Given the description of an element on the screen output the (x, y) to click on. 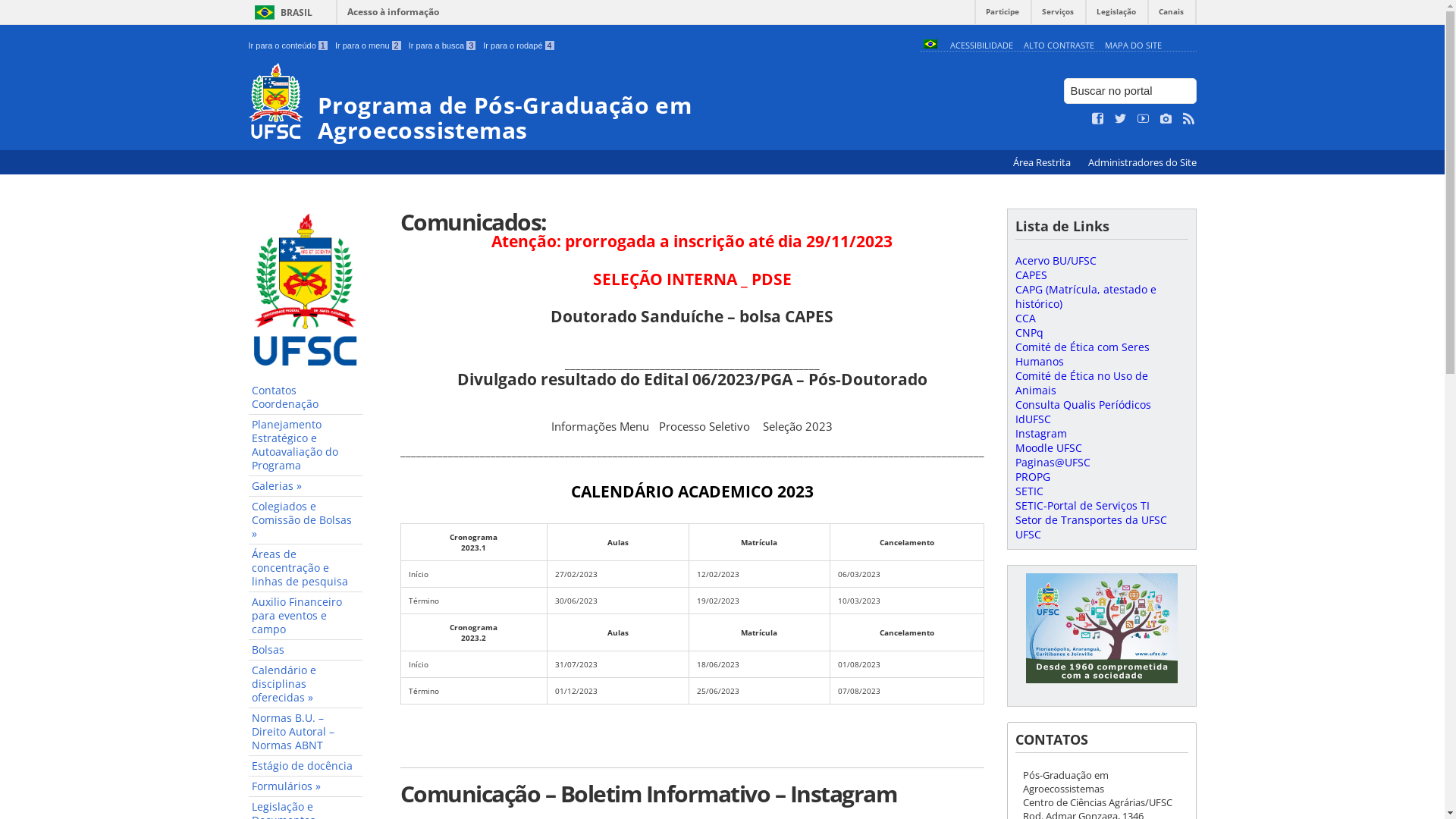
Participe Element type: text (1002, 15)
Acervo BU/UFSC Element type: text (1054, 260)
BRASIL Element type: text (280, 12)
SETIC Element type: text (1028, 490)
ACESSIBILIDADE Element type: text (981, 44)
Instagram Element type: text (1040, 433)
CAPES Element type: text (1030, 274)
UFSC Element type: text (1027, 534)
Siga no Twitter Element type: hover (1120, 118)
MAPA DO SITE Element type: text (1132, 44)
ALTO CONTRASTE Element type: text (1058, 44)
Auxilio Financeiro para eventos e campo Element type: text (305, 616)
Paginas@UFSC Element type: text (1051, 462)
PROPG Element type: text (1031, 476)
Canais Element type: text (1171, 15)
Administradores do Site Element type: text (1141, 162)
Ir para a busca 3 Element type: text (442, 45)
Curta no Facebook Element type: hover (1098, 118)
Bolsas Element type: text (305, 650)
Comunicados: Element type: text (692, 221)
Moodle UFSC Element type: text (1047, 447)
Setor de Transportes da UFSC Element type: text (1090, 519)
CCA Element type: text (1024, 317)
Veja no Instagram Element type: hover (1166, 118)
IdUFSC Element type: text (1032, 418)
Ir para o menu 2 Element type: text (368, 45)
CNPq Element type: text (1028, 332)
